Given the description of an element on the screen output the (x, y) to click on. 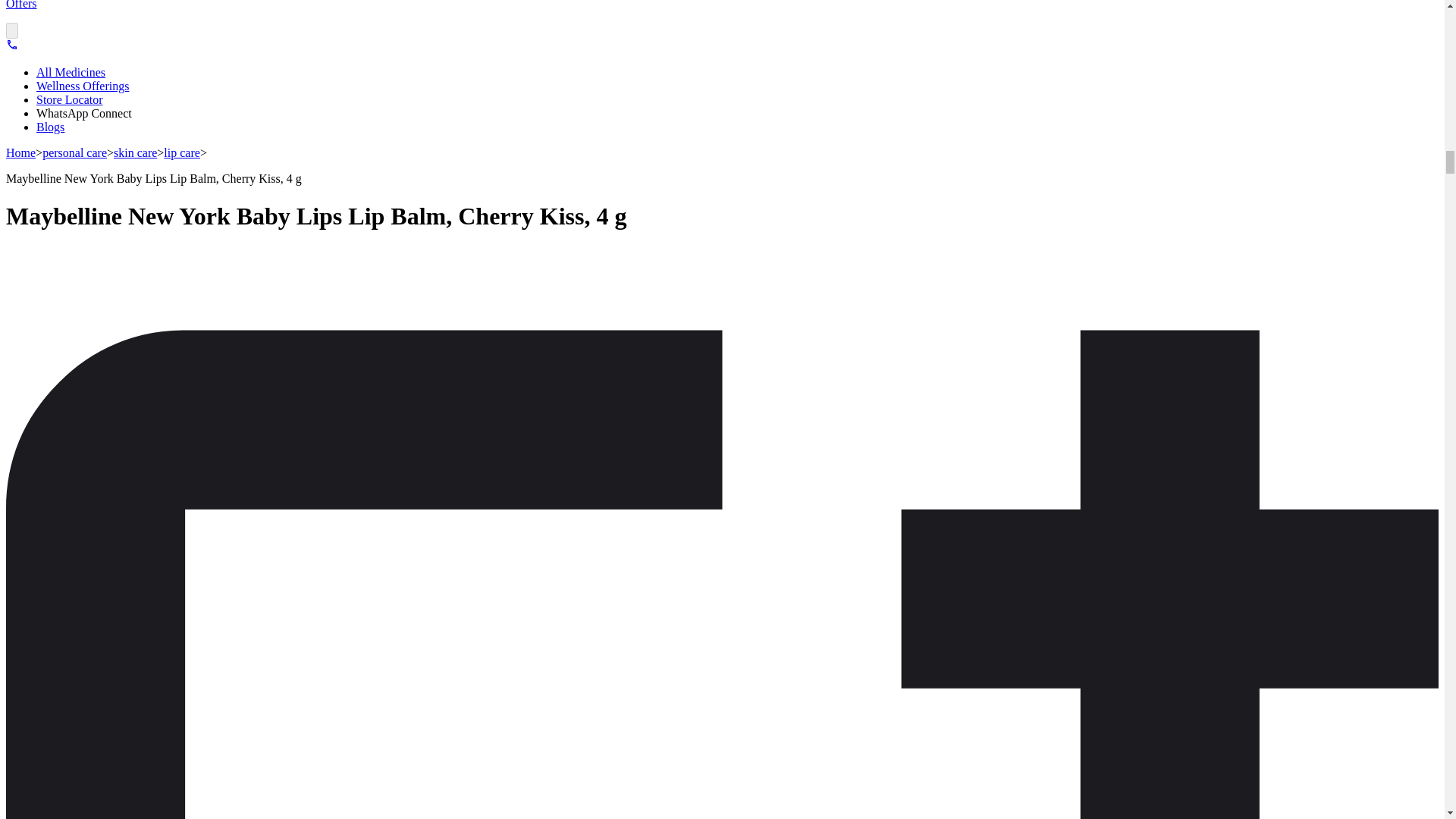
skin care (135, 152)
lip care (181, 152)
personal care (74, 152)
Home (19, 152)
